Given the description of an element on the screen output the (x, y) to click on. 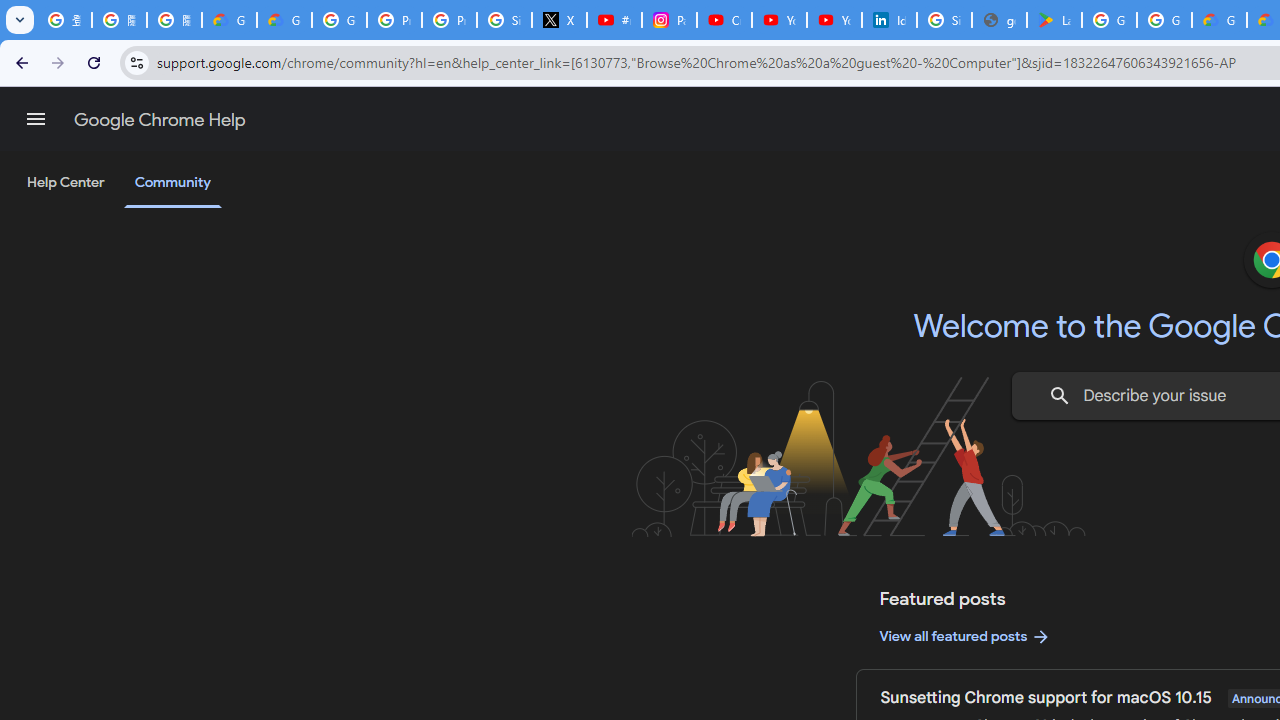
Google Chrome Help (159, 119)
#nbabasketballhighlights - YouTube (614, 20)
YouTube Culture & Trends - YouTube Top 10, 2021 (833, 20)
Google Cloud Privacy Notice (284, 20)
X (559, 20)
Government | Google Cloud (1218, 20)
Privacy Help Center - Policies Help (394, 20)
Privacy Help Center - Policies Help (449, 20)
